Given the description of an element on the screen output the (x, y) to click on. 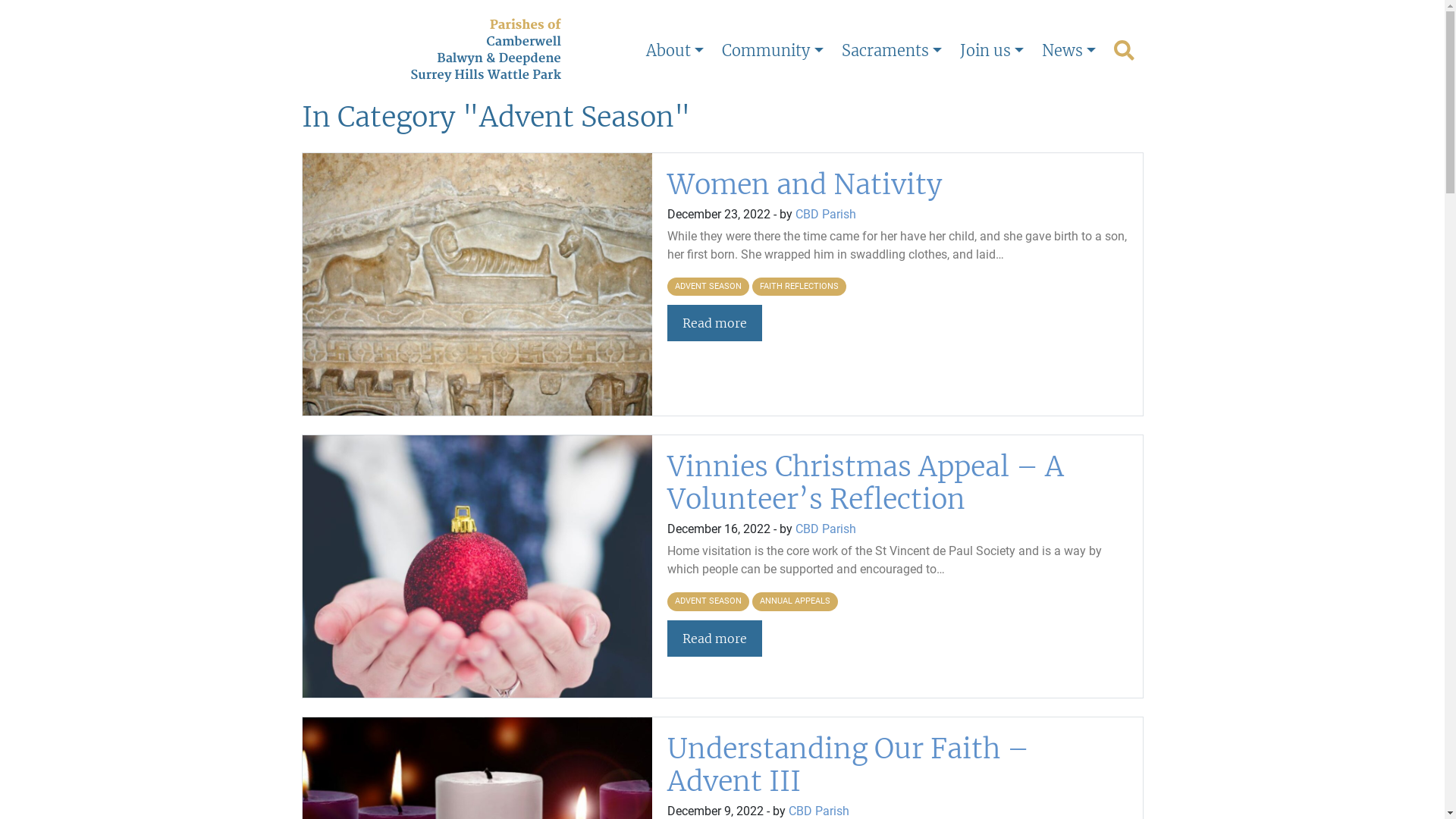
ADVENT SEASON Element type: text (708, 286)
ADVENT SEASON Element type: text (708, 601)
Community Element type: text (771, 50)
CBD Parish Element type: text (818, 810)
About Element type: text (674, 50)
News Element type: text (1068, 50)
Read more Element type: text (714, 638)
Read more Element type: text (714, 322)
Sacraments Element type: text (891, 50)
FAITH REFLECTIONS Element type: text (799, 286)
CBD Parish Element type: text (825, 214)
CBD Parish Element type: text (825, 528)
ANNUAL APPEALS Element type: text (794, 601)
Women and Nativity Element type: text (804, 184)
Join us Element type: text (991, 50)
